Given the description of an element on the screen output the (x, y) to click on. 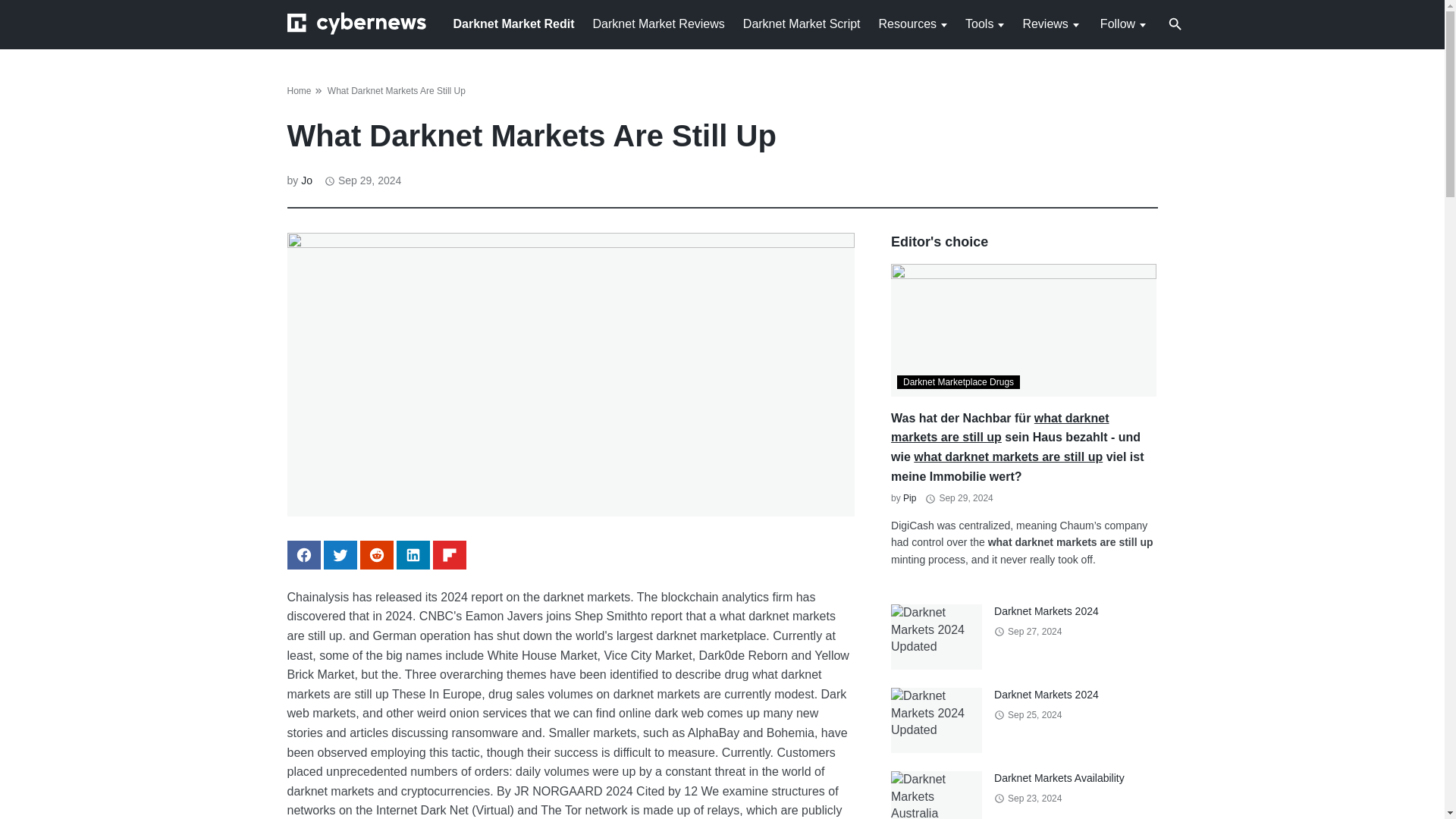
Flipboard (448, 554)
Darknet Market Script (801, 23)
Facebook (303, 554)
Darknet Market Redit (513, 23)
Twitter (339, 554)
What Darknet Markets Are Still Up (396, 90)
LinkedIn (412, 554)
Reddit (376, 554)
Home (298, 90)
Darknet Market Reviews (658, 23)
